Given the description of an element on the screen output the (x, y) to click on. 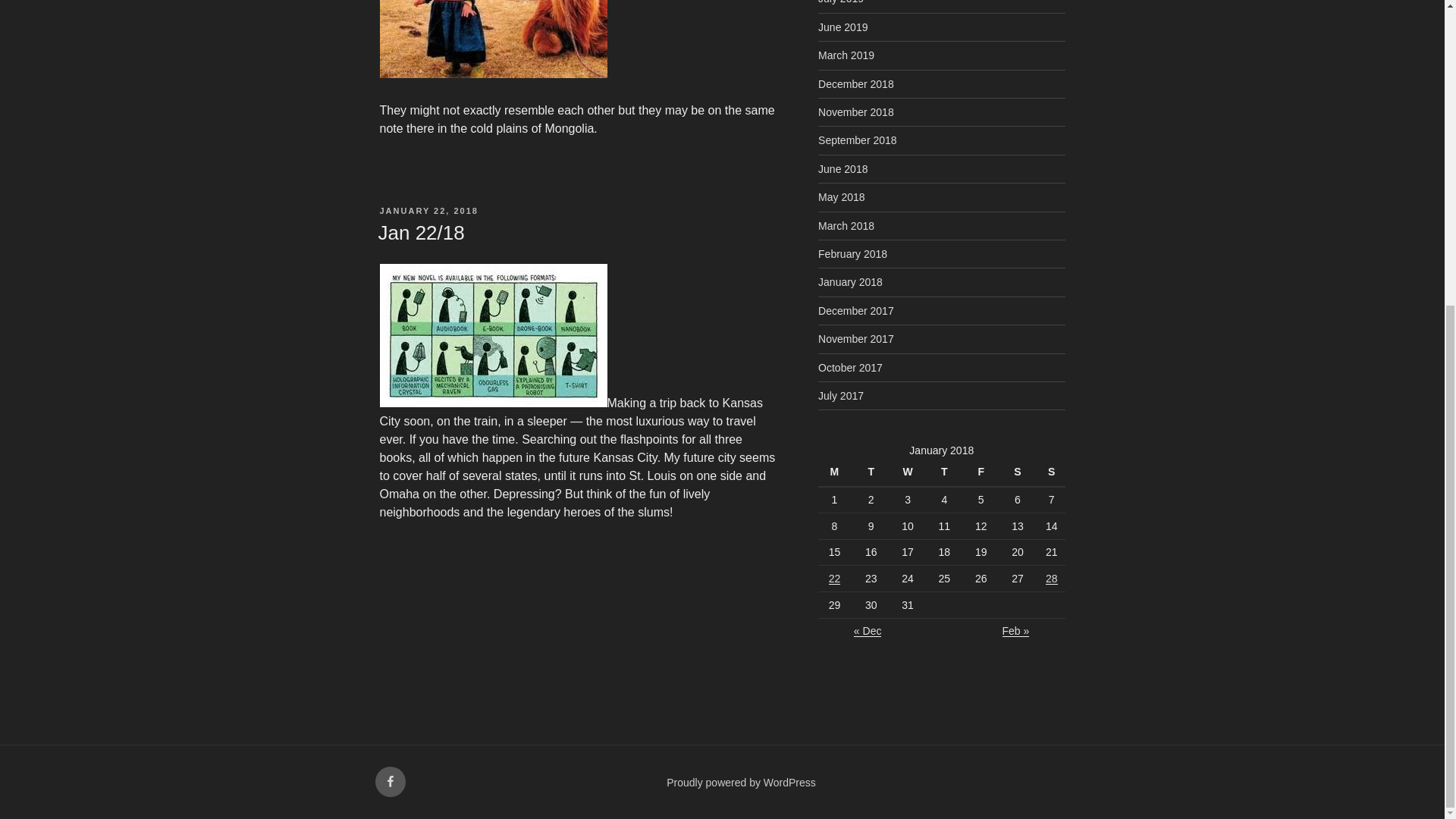
September 2018 (857, 140)
Friday (982, 472)
January 2018 (850, 282)
Thursday (945, 472)
Proudly powered by WordPress (740, 782)
June 2018 (842, 168)
December 2018 (855, 83)
November 2018 (855, 111)
May 2018 (841, 196)
Sunday (1051, 472)
Saturday (1019, 472)
July 2017 (840, 395)
March 2019 (846, 55)
28 (1051, 578)
June 2019 (842, 27)
